Given the description of an element on the screen output the (x, y) to click on. 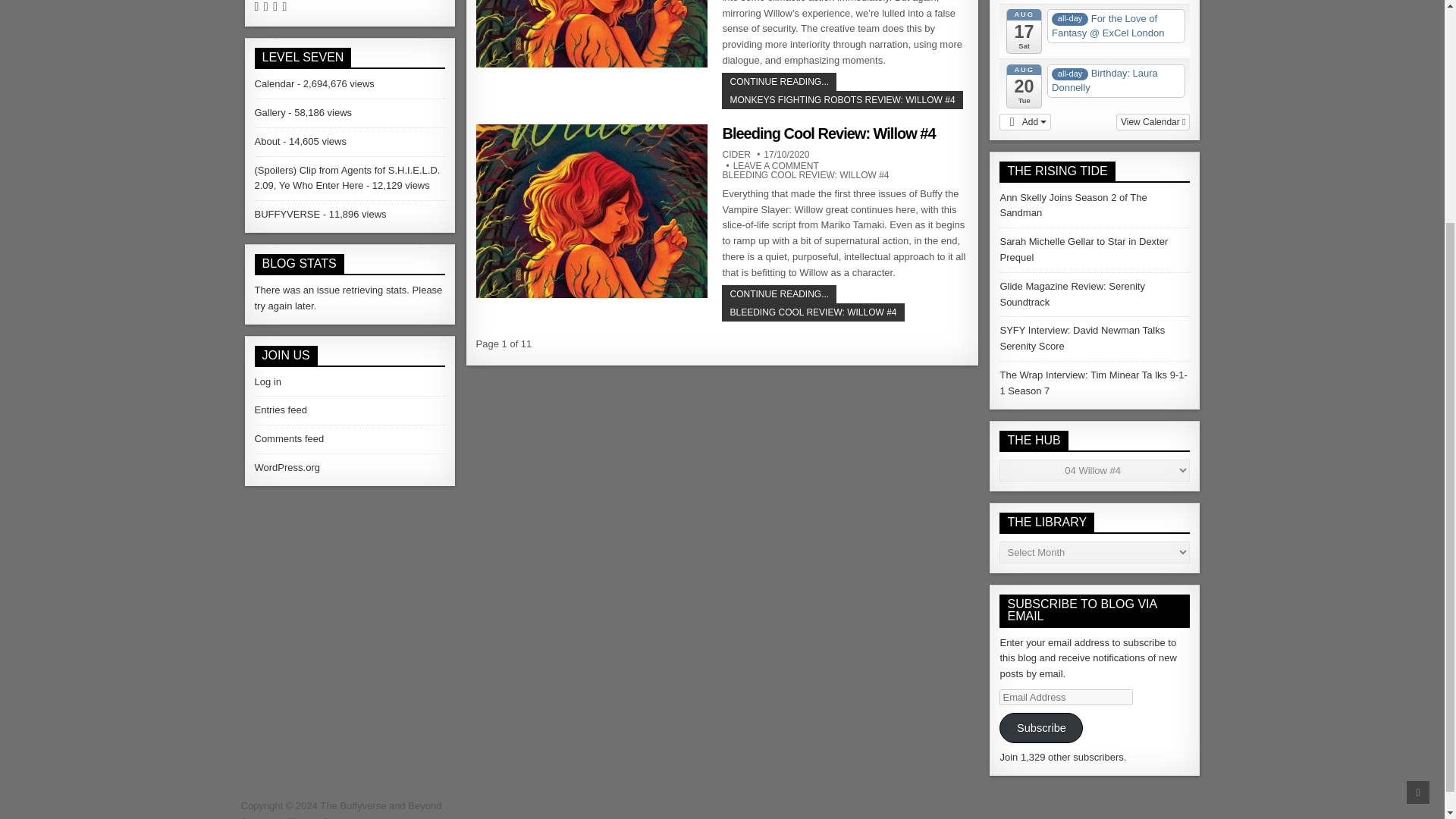
Calendar (274, 83)
Scroll to Top (1417, 487)
Gallery (269, 112)
Scroll to Top (1417, 487)
About (267, 141)
BUFFYVERSE (287, 214)
